Given the description of an element on the screen output the (x, y) to click on. 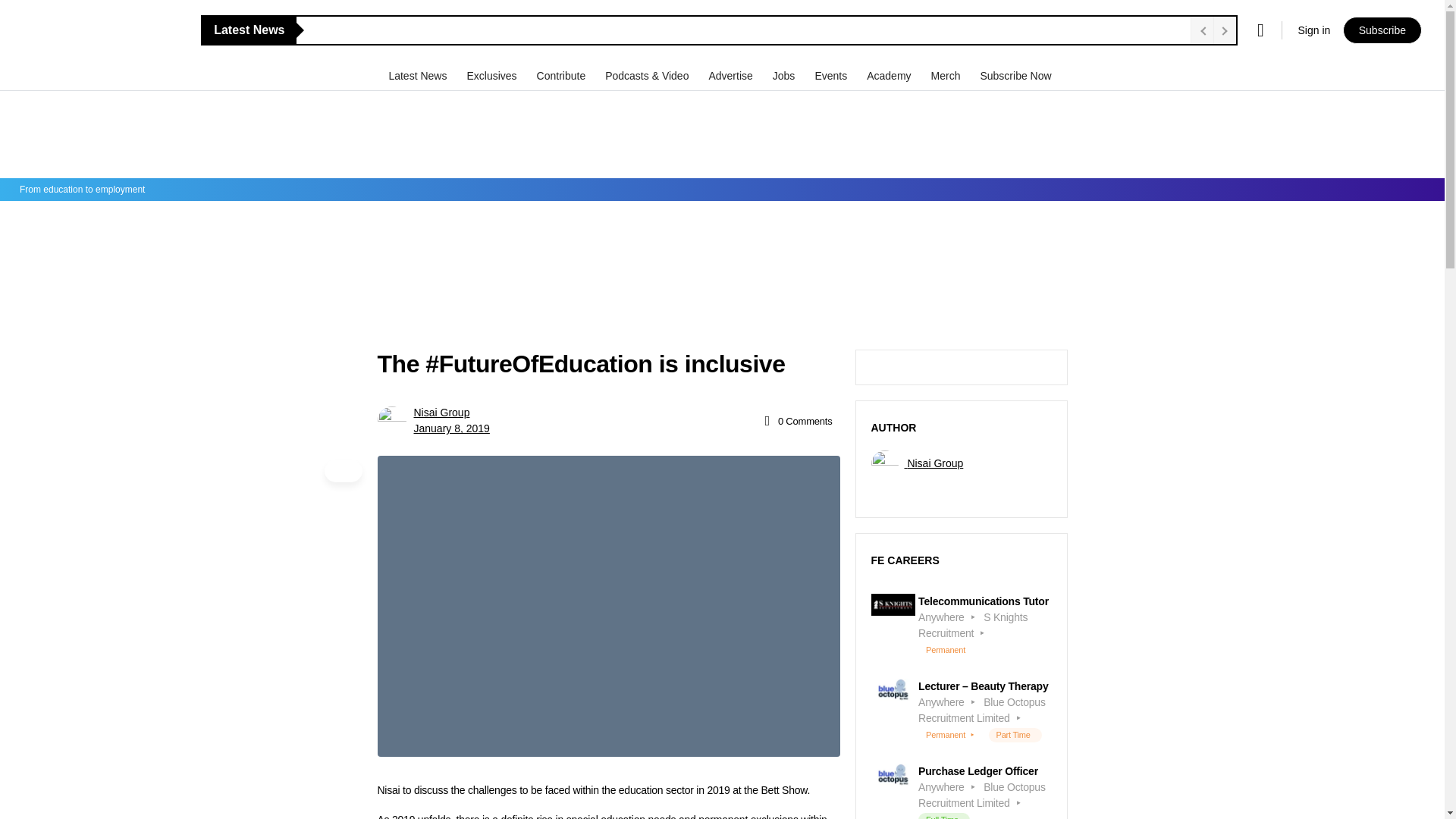
Subscribe (1382, 30)
Latest News (419, 75)
Sign in (1313, 30)
Exclusives (493, 75)
